Given the description of an element on the screen output the (x, y) to click on. 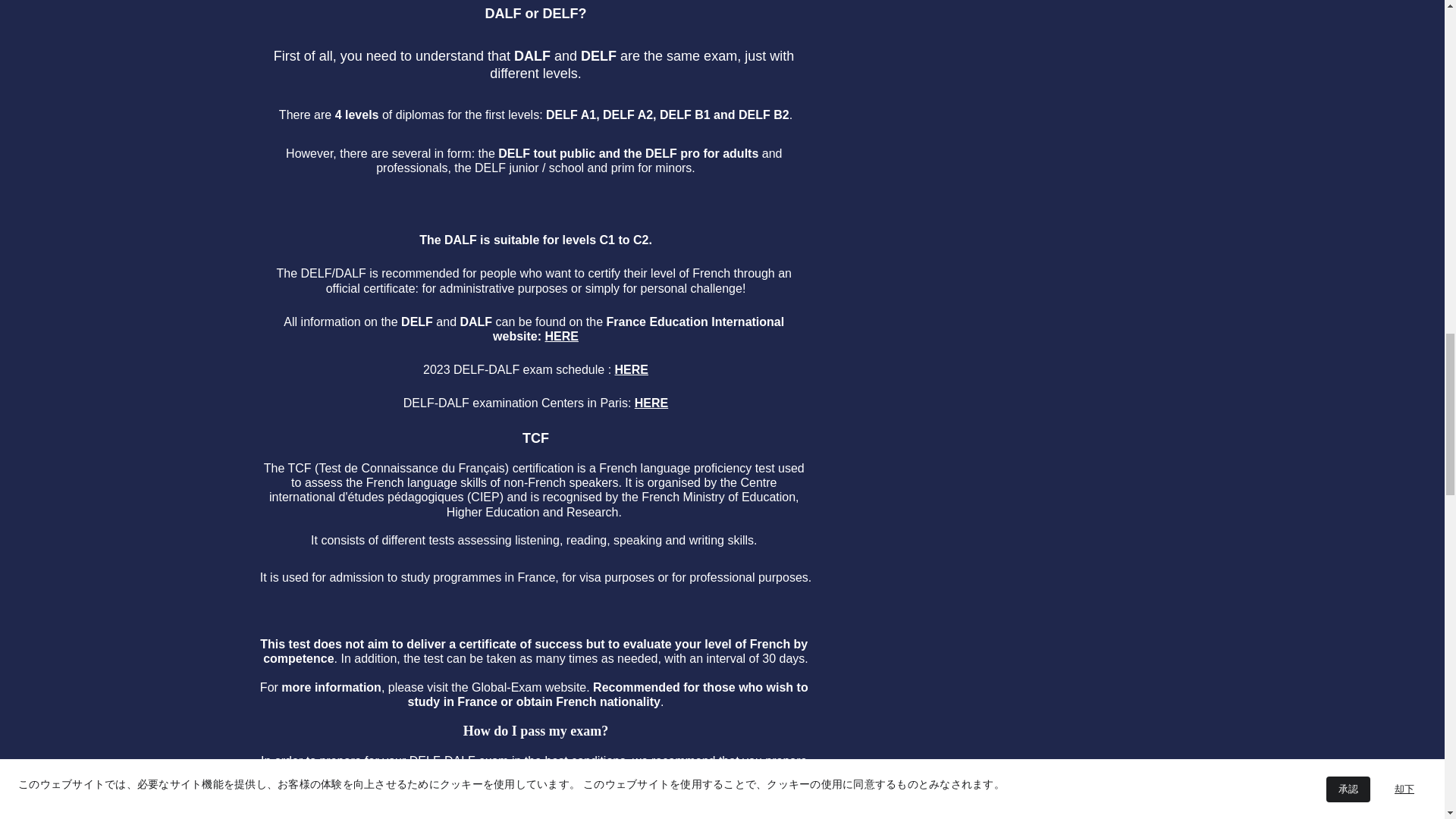
HERE (561, 336)
HERE (630, 369)
